Given the description of an element on the screen output the (x, y) to click on. 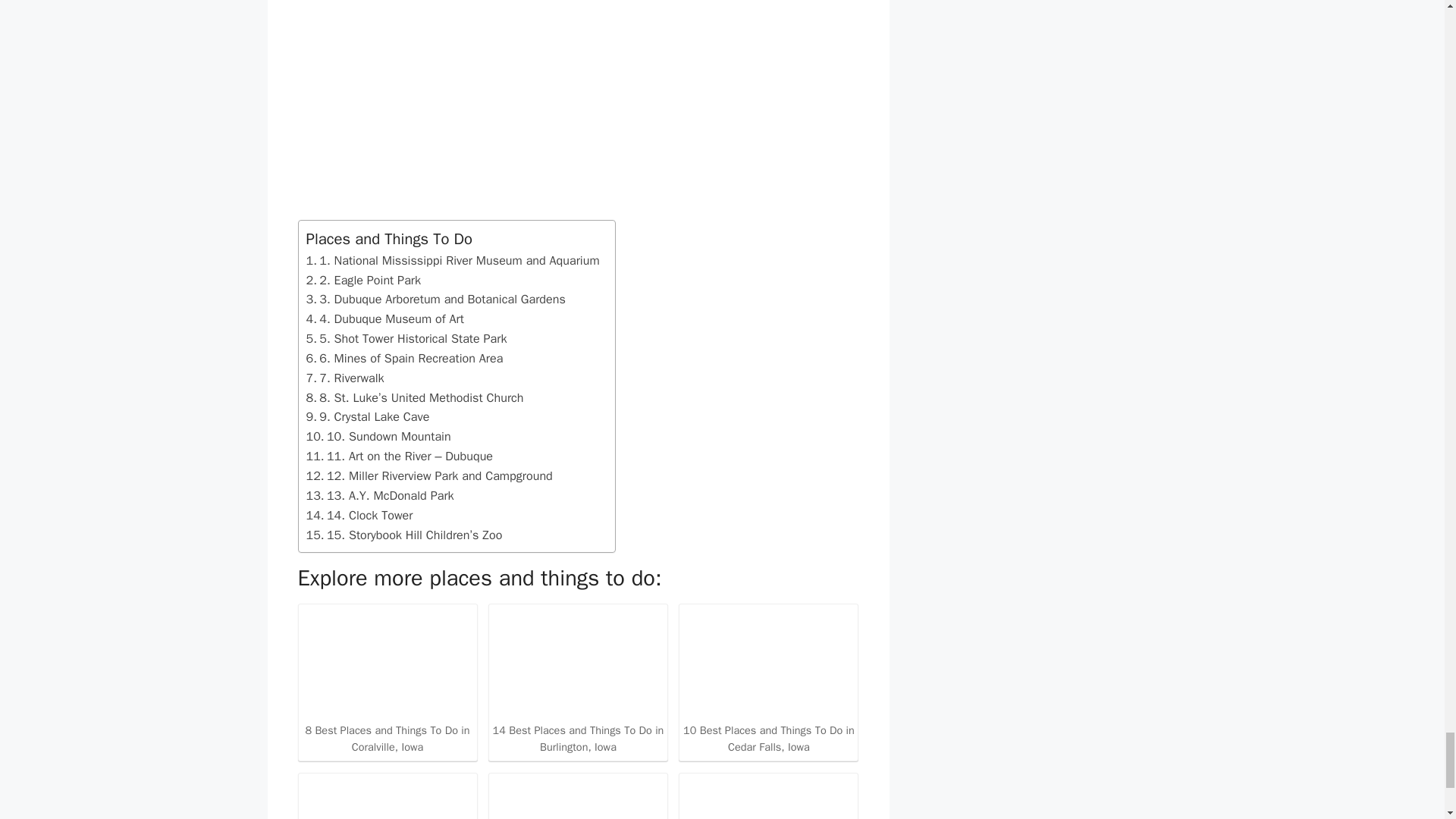
3. Dubuque Arboretum and Botanical Gardens (435, 299)
12. Miller Riverview Park and Campground (429, 476)
10. Sundown Mountain (378, 436)
8 Best Places and Things To Do in Coralville, Iowa (386, 680)
13. A.Y. McDonald Park (379, 496)
2. Eagle Point Park (363, 280)
4. Dubuque Museum of Art (384, 319)
1. National Mississippi River Museum and Aquarium (452, 260)
10. Sundown Mountain (378, 436)
9. Crystal Lake Cave (367, 416)
1. National Mississippi River Museum and Aquarium (452, 260)
3. Dubuque Arboretum and Botanical Gardens (435, 299)
7. Riverwalk (344, 378)
5. Shot Tower Historical State Park (405, 338)
9. Crystal Lake Cave (367, 416)
